Given the description of an element on the screen output the (x, y) to click on. 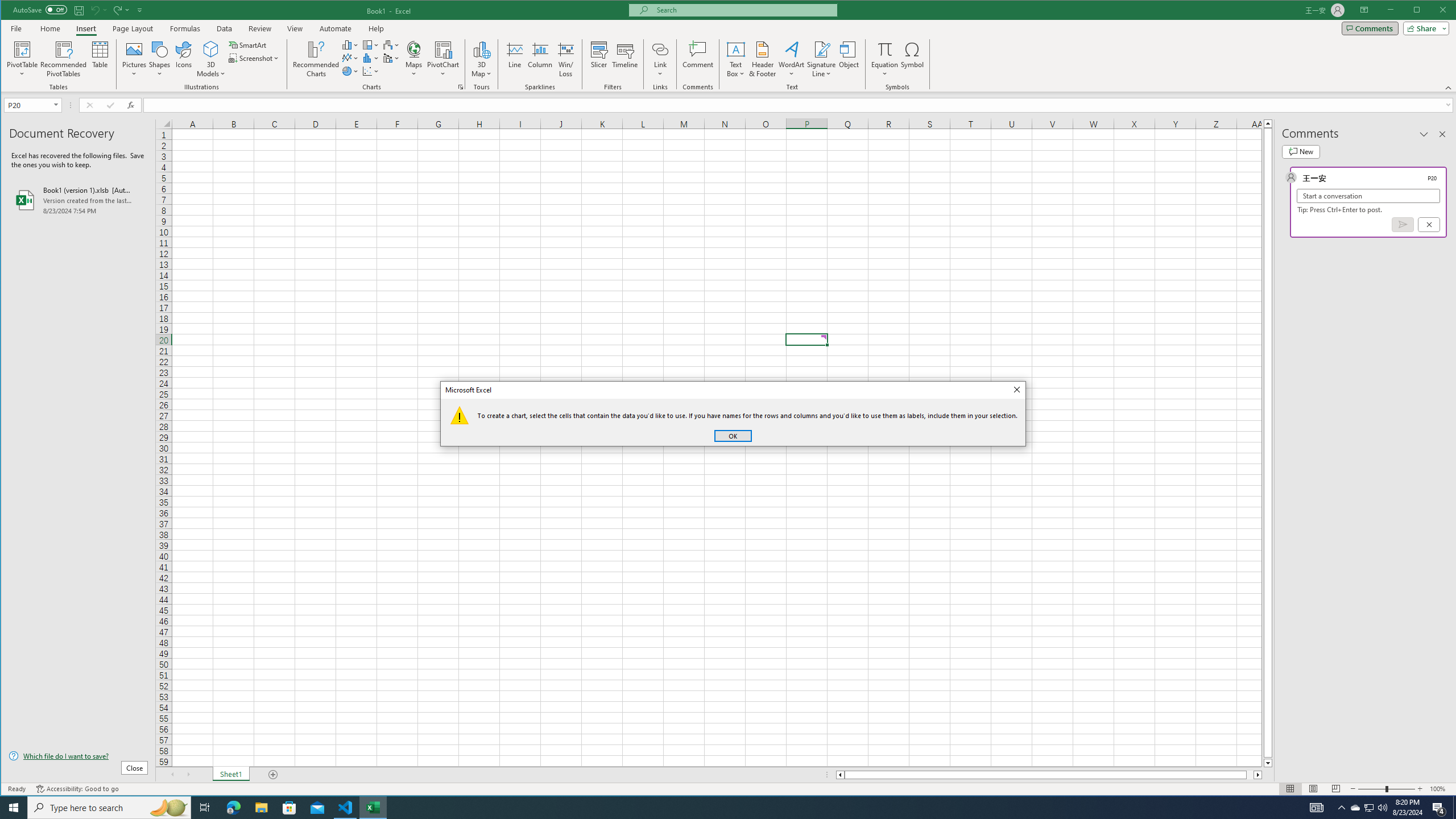
Automate (336, 28)
Task Pane Options (1423, 133)
Table (100, 59)
Signature Line (821, 59)
PivotChart (443, 59)
Maps (413, 59)
Timeline (625, 59)
OK (1368, 807)
Link (732, 435)
Column right (659, 59)
3D Map (1258, 774)
